Given the description of an element on the screen output the (x, y) to click on. 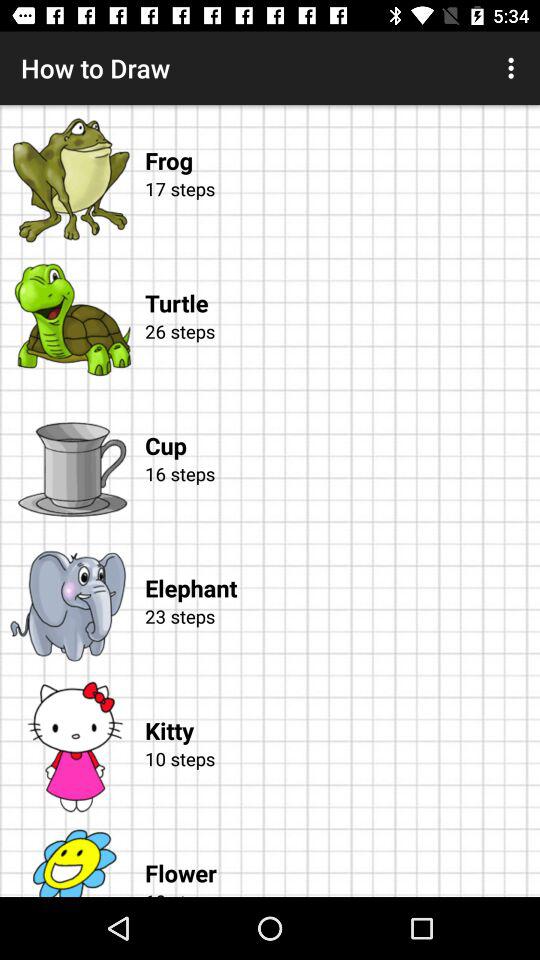
turn off the 17 steps item (339, 211)
